Given the description of an element on the screen output the (x, y) to click on. 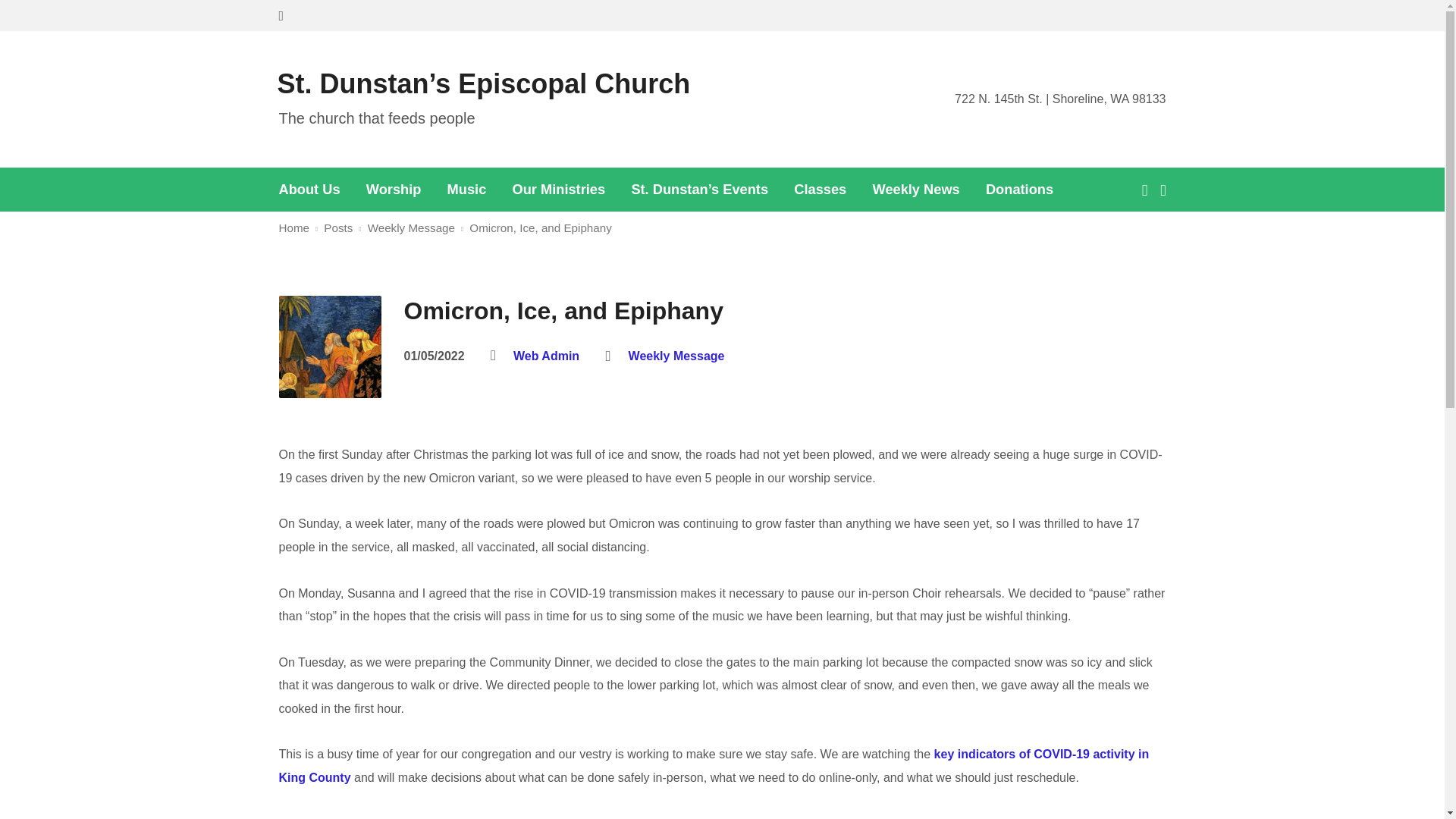
Donations (1018, 189)
Web Admin (546, 355)
Omicron, Ice, and Epiphany (539, 227)
Classes (819, 189)
Home (294, 227)
Weekly Message (676, 355)
Music (466, 189)
Weekly News (915, 189)
About Us (309, 189)
key indicators of COVID-19 activity in King County (714, 764)
